Given the description of an element on the screen output the (x, y) to click on. 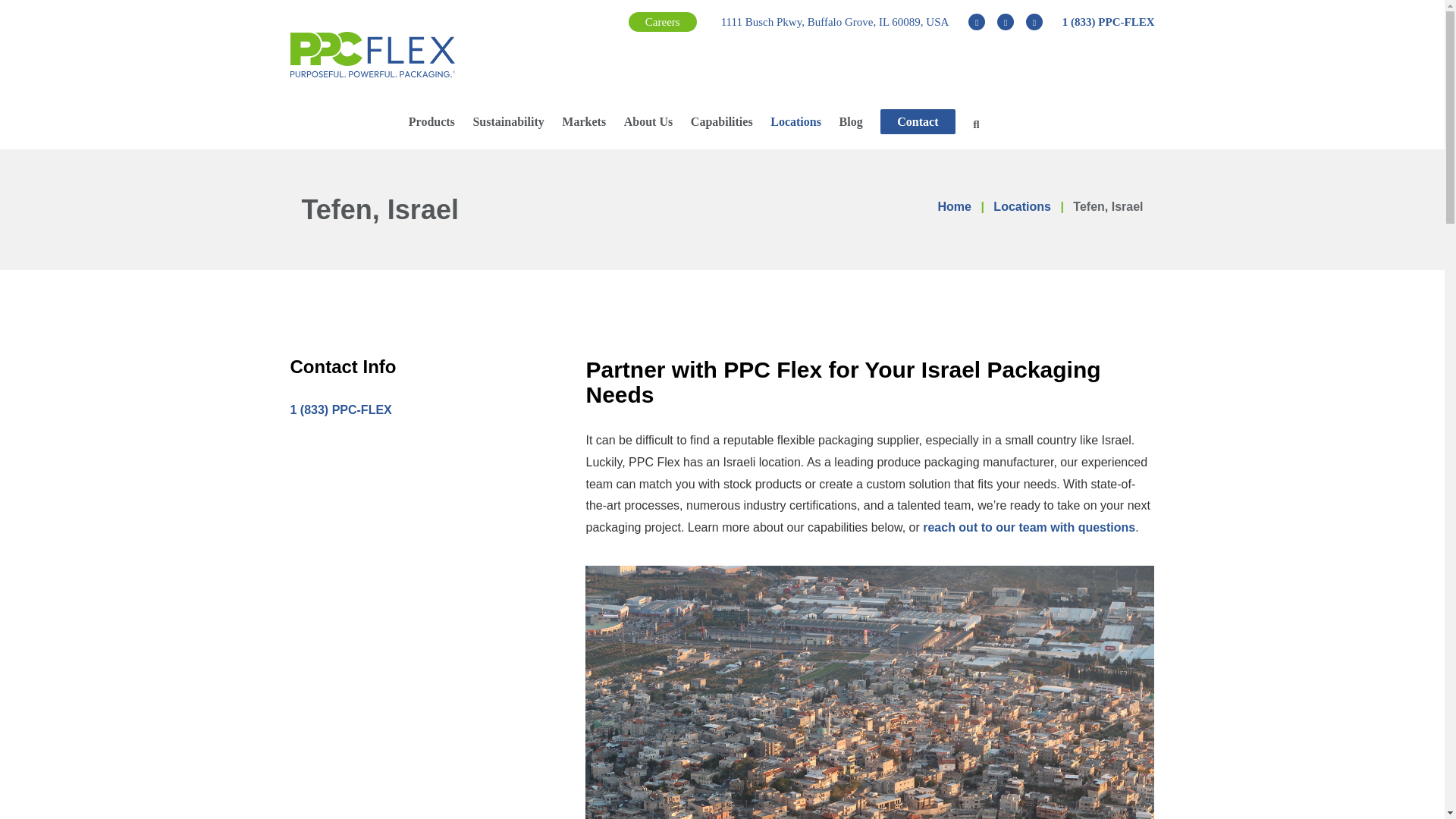
Contact (917, 121)
Locations (795, 121)
Capabilities (721, 121)
Sustainability (507, 121)
Locations (1021, 205)
Careers (662, 21)
About Us (648, 121)
Home (954, 205)
reach out to our team with questions (1029, 526)
